Given the description of an element on the screen output the (x, y) to click on. 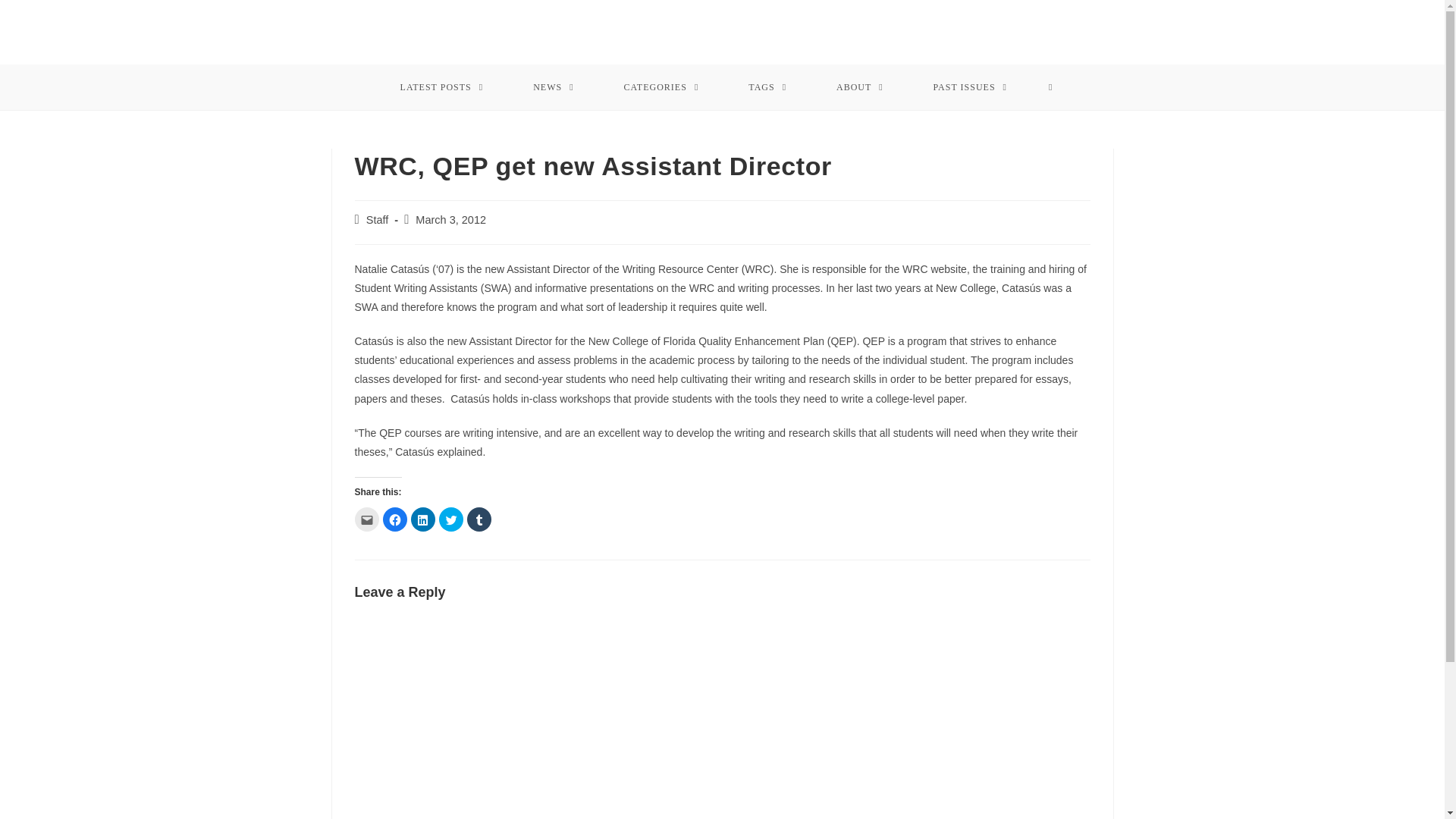
Click to share on LinkedIn (422, 518)
Staff (377, 219)
Click to share on Twitter (450, 518)
Click to share on Facebook (393, 518)
PAST ISSUES (970, 86)
Click to email this to a friend (366, 518)
CATEGORIES (660, 86)
NEWS (553, 86)
Posts by Staff (377, 219)
ABOUT (859, 86)
TAGS (766, 86)
LATEST POSTS (441, 86)
Click to share on Tumblr (479, 518)
